Given the description of an element on the screen output the (x, y) to click on. 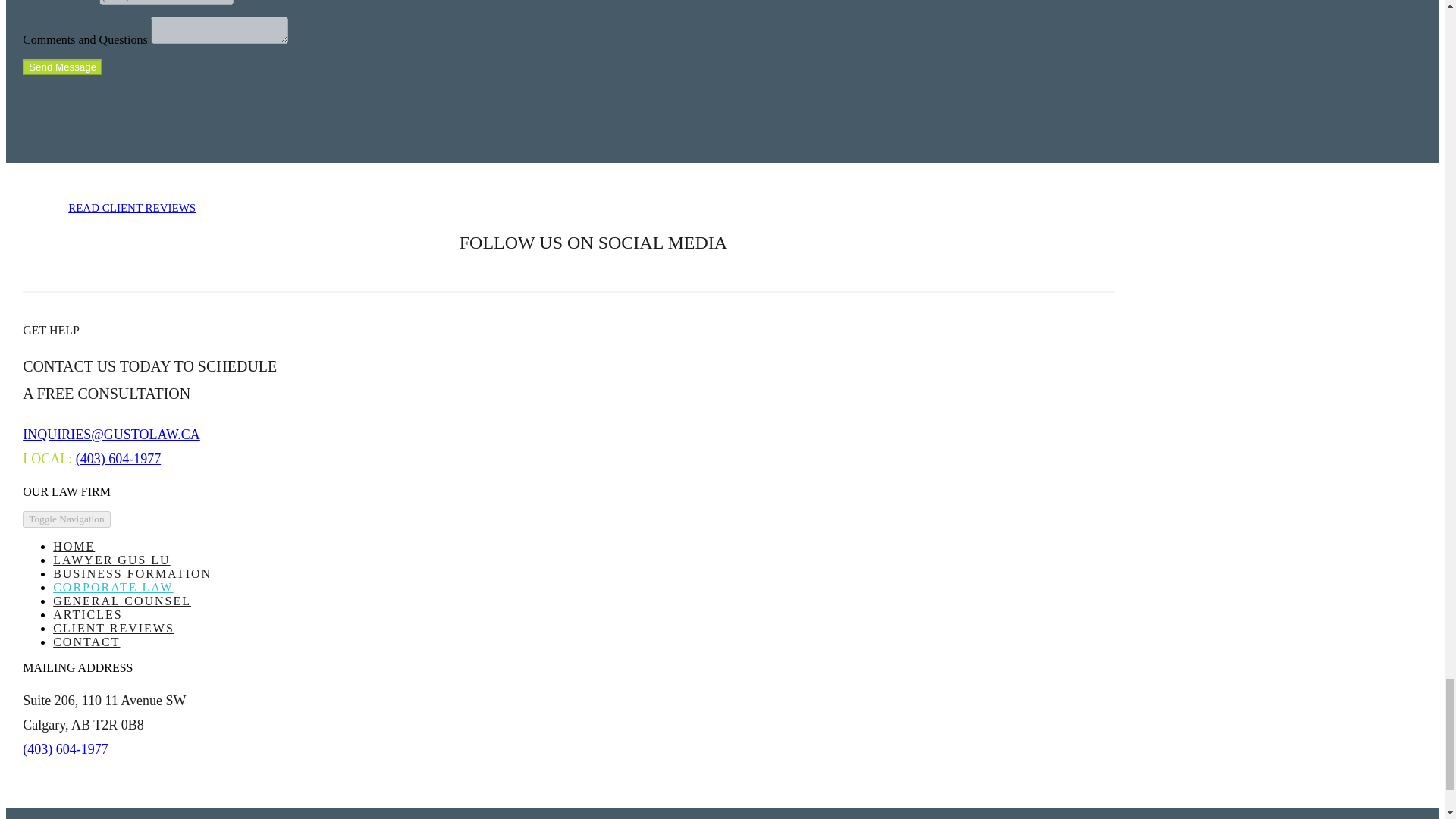
Send Message (62, 66)
Send Message (62, 66)
READ CLIENT REVIEWS (132, 205)
